Given the description of an element on the screen output the (x, y) to click on. 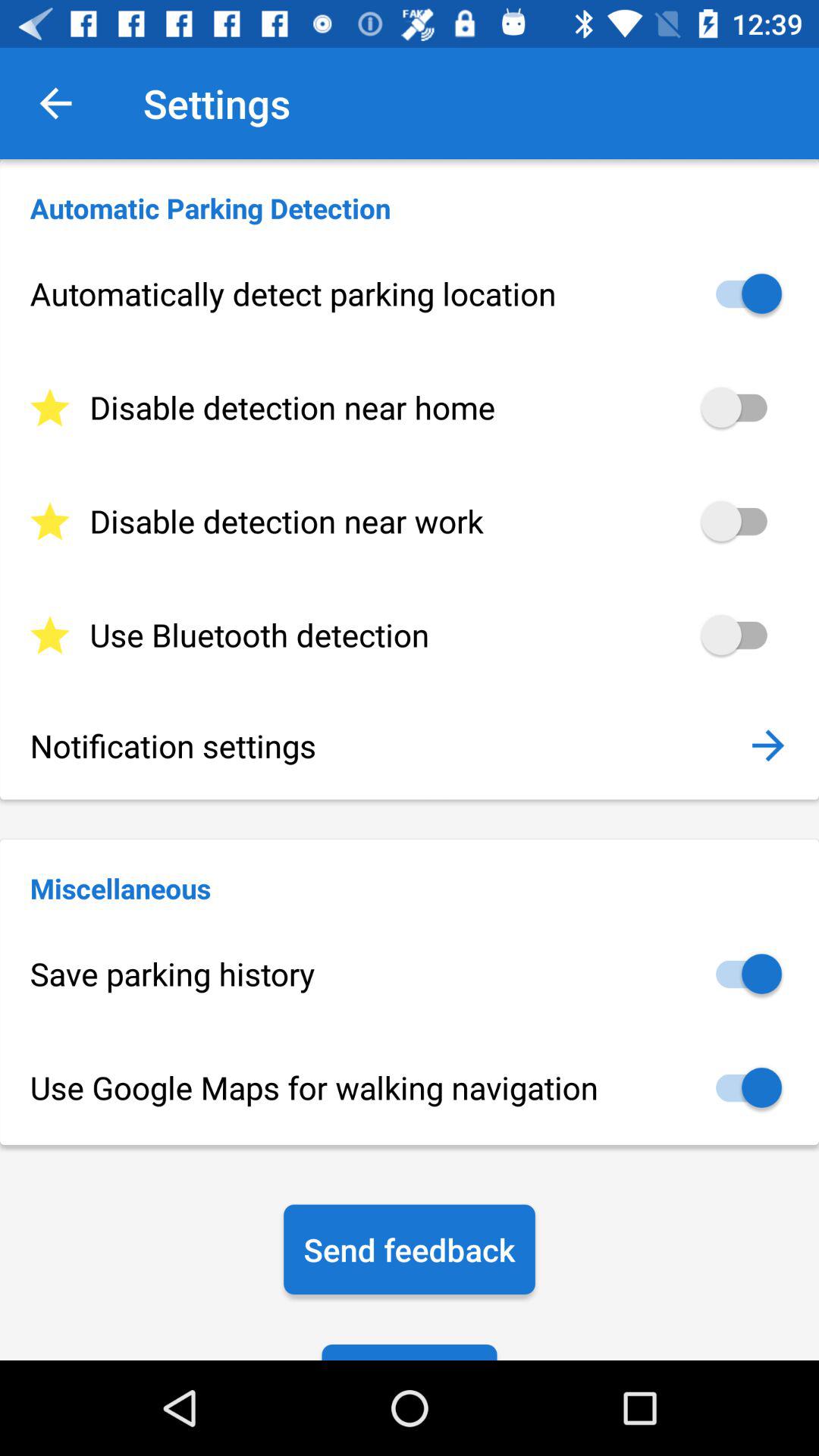
scroll to use google maps icon (409, 1087)
